Given the description of an element on the screen output the (x, y) to click on. 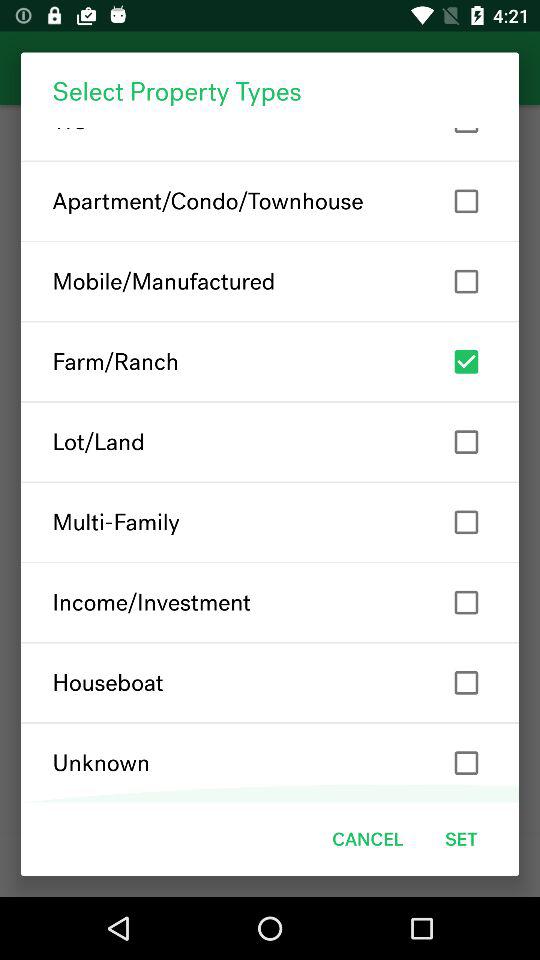
turn on item next to cancel item (461, 838)
